Given the description of an element on the screen output the (x, y) to click on. 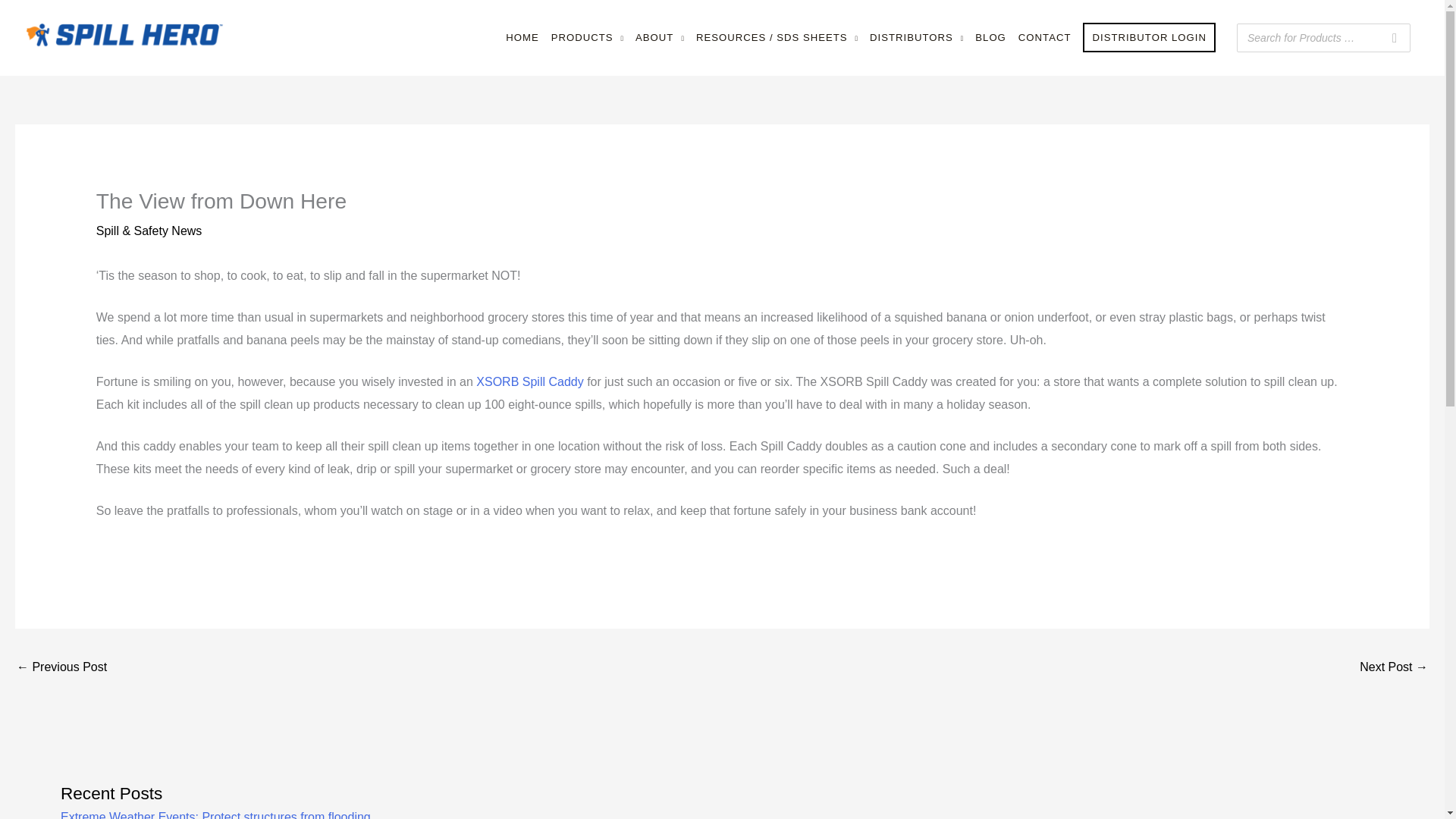
Something Fishy Going On? (61, 668)
DISTRIBUTOR LOGIN (1149, 37)
XSORB Spill Caddy (529, 381)
HOME (521, 37)
ABOUT (659, 37)
PRODUCTS (586, 37)
BLOG (990, 37)
Solid, Dude! (1393, 668)
DISTRIBUTORS (916, 37)
CONTACT (1044, 37)
Extreme Weather Events: Protect structures from flooding (216, 814)
